Given the description of an element on the screen output the (x, y) to click on. 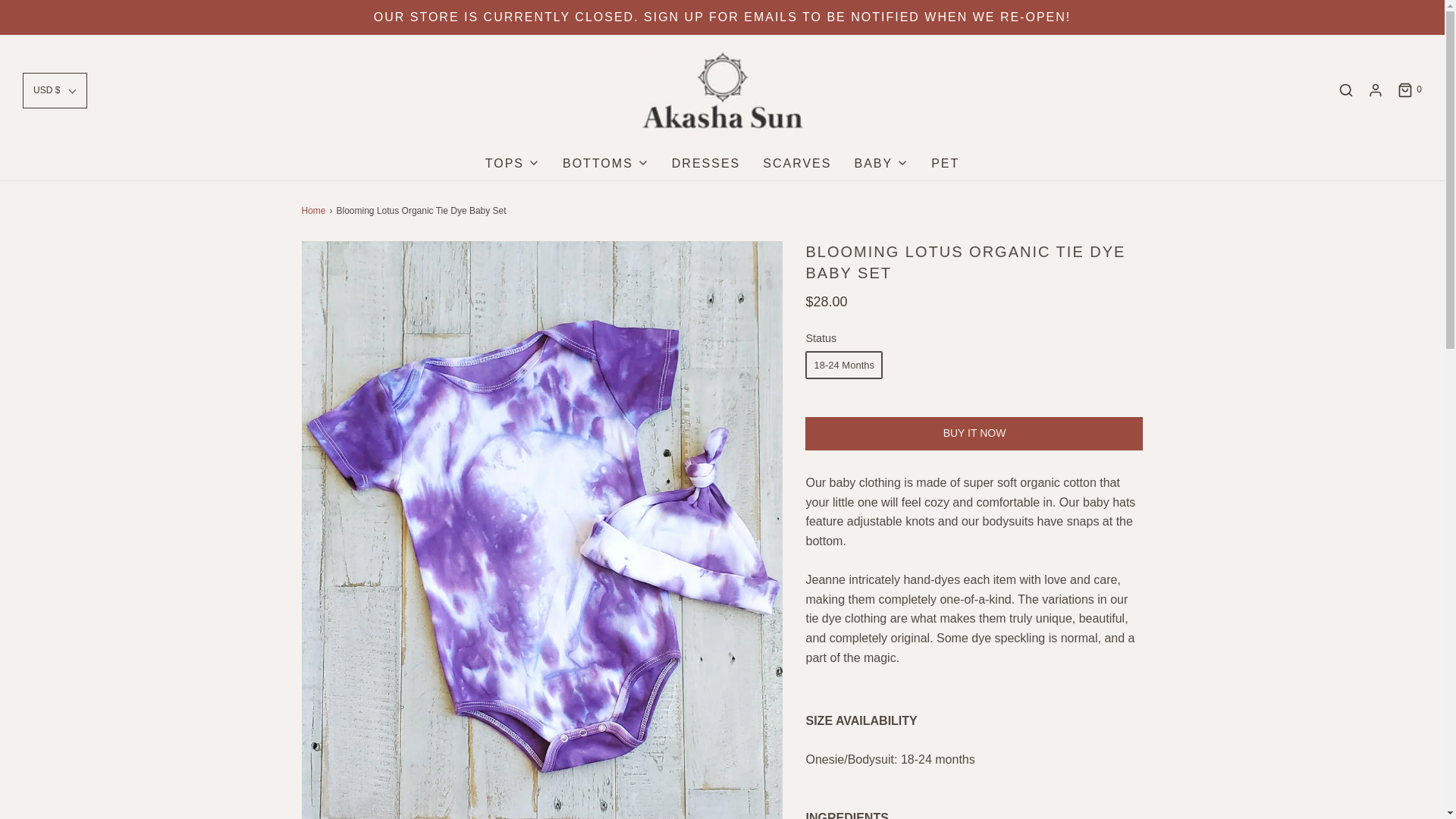
SCARVES (796, 163)
Cart (1409, 89)
TOPS (512, 163)
Log in (1375, 89)
Back to the frontpage (315, 210)
PET (945, 163)
Search (1345, 89)
BUY IT NOW (973, 433)
DRESSES (705, 163)
BABY (880, 163)
0 (1409, 89)
Home (315, 210)
BOTTOMS (605, 163)
